Given the description of an element on the screen output the (x, y) to click on. 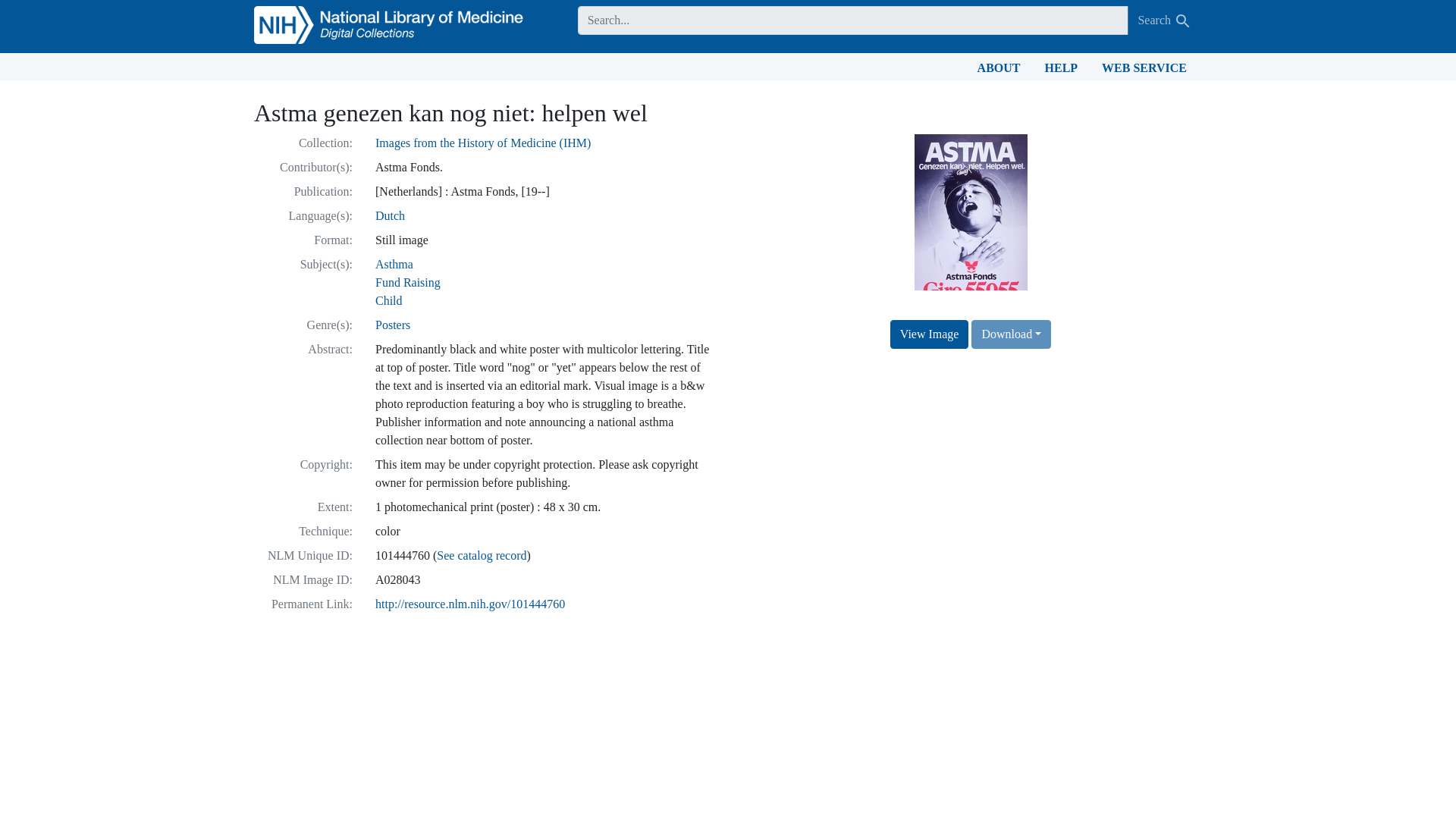
Dutch (389, 215)
Download (1011, 334)
Fund Raising (408, 282)
Posters (392, 324)
Asthma (394, 264)
ABOUT (998, 66)
See catalog record (480, 554)
HELP (1061, 66)
View Image (929, 334)
Search (1182, 21)
